Given the description of an element on the screen output the (x, y) to click on. 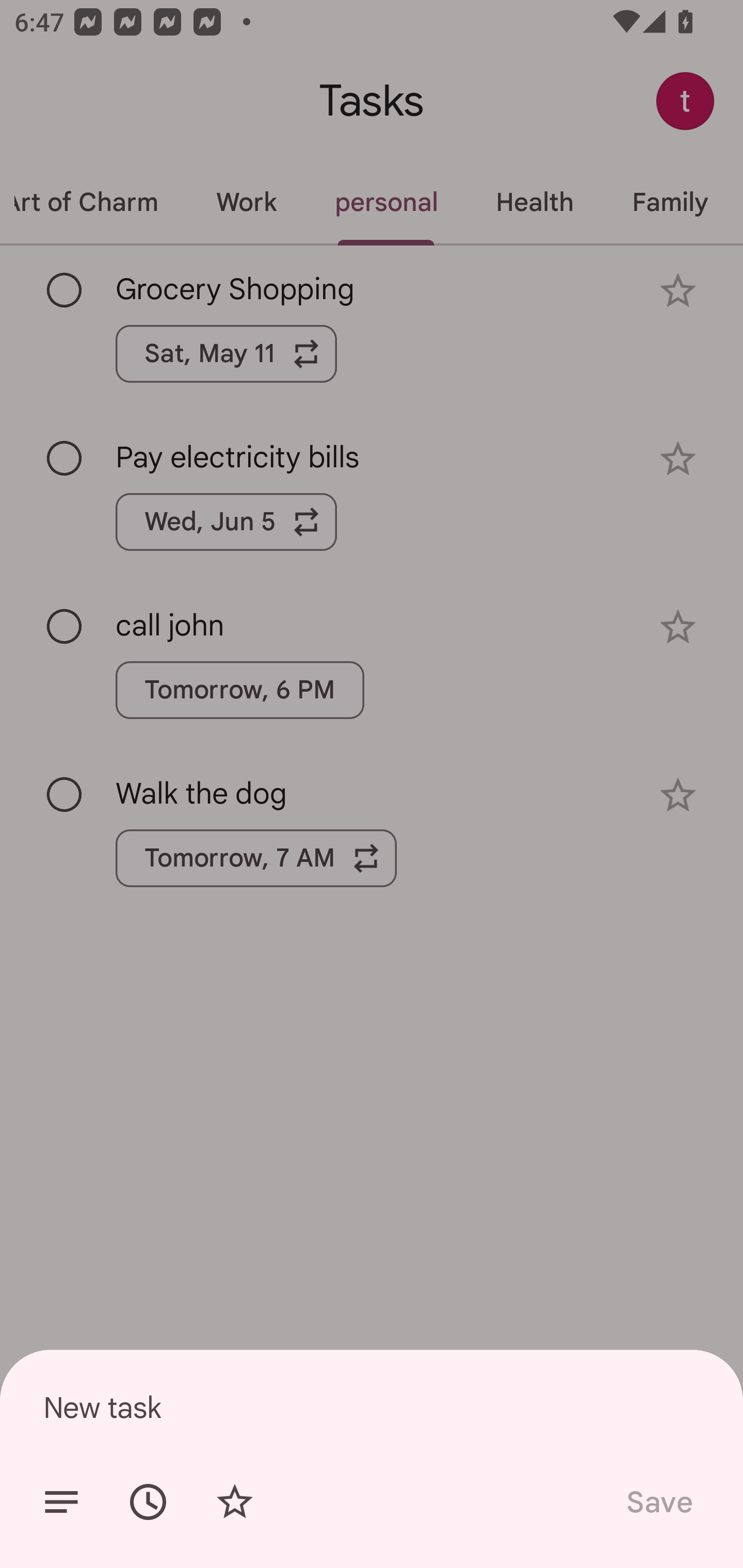
New task (371, 1407)
Save (659, 1501)
Add details (60, 1501)
Set date/time (147, 1501)
Add star (234, 1501)
